Given the description of an element on the screen output the (x, y) to click on. 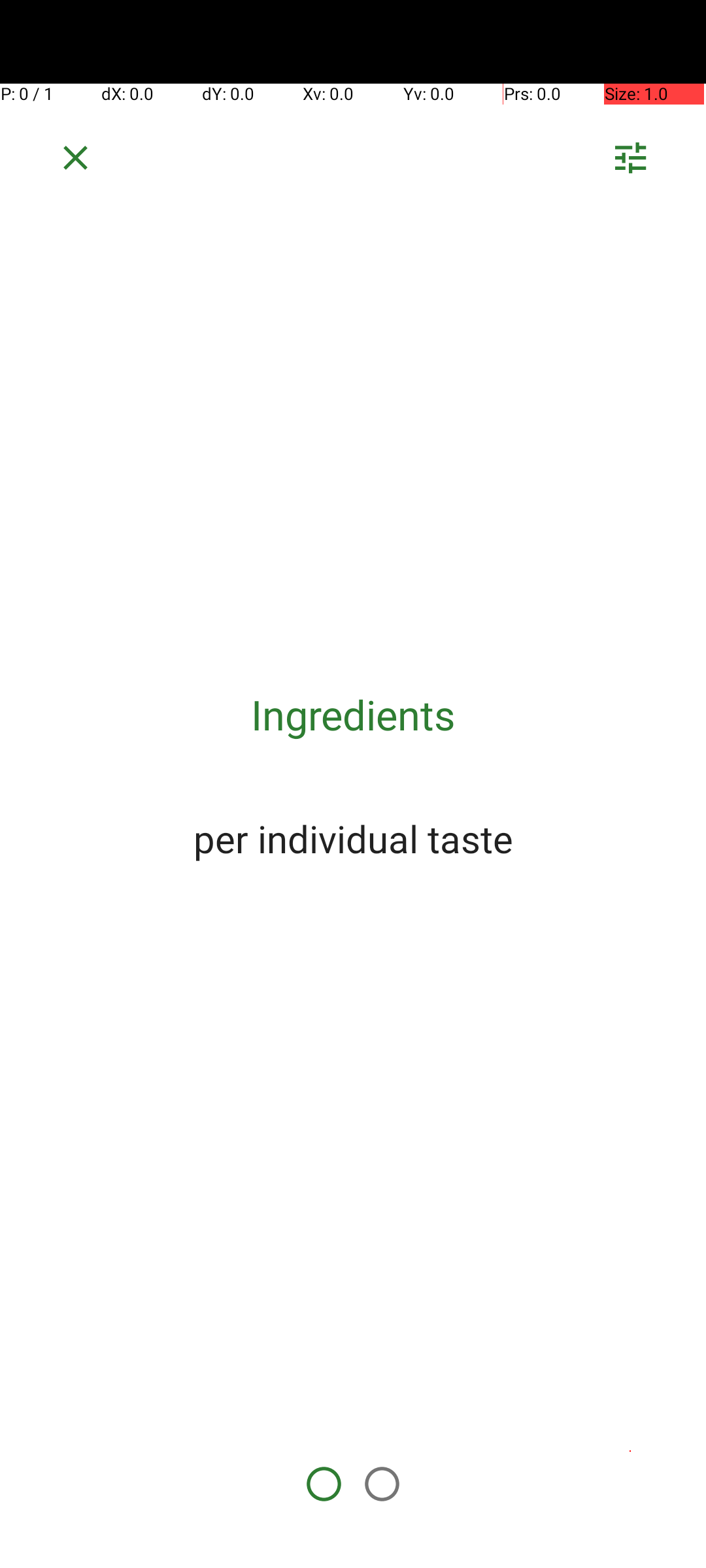
per individual taste Element type: android.widget.TextView (353, 838)
